Given the description of an element on the screen output the (x, y) to click on. 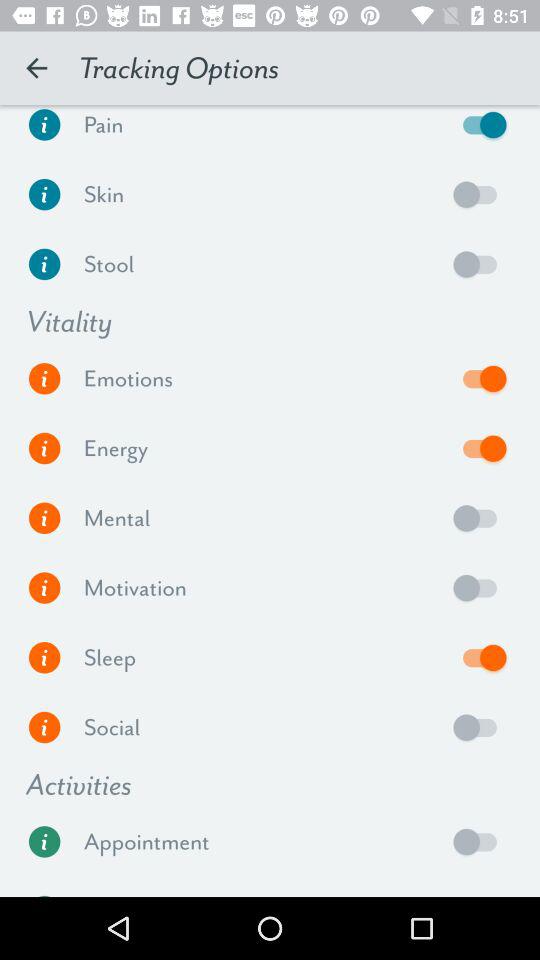
turns on appointment (479, 841)
